Given the description of an element on the screen output the (x, y) to click on. 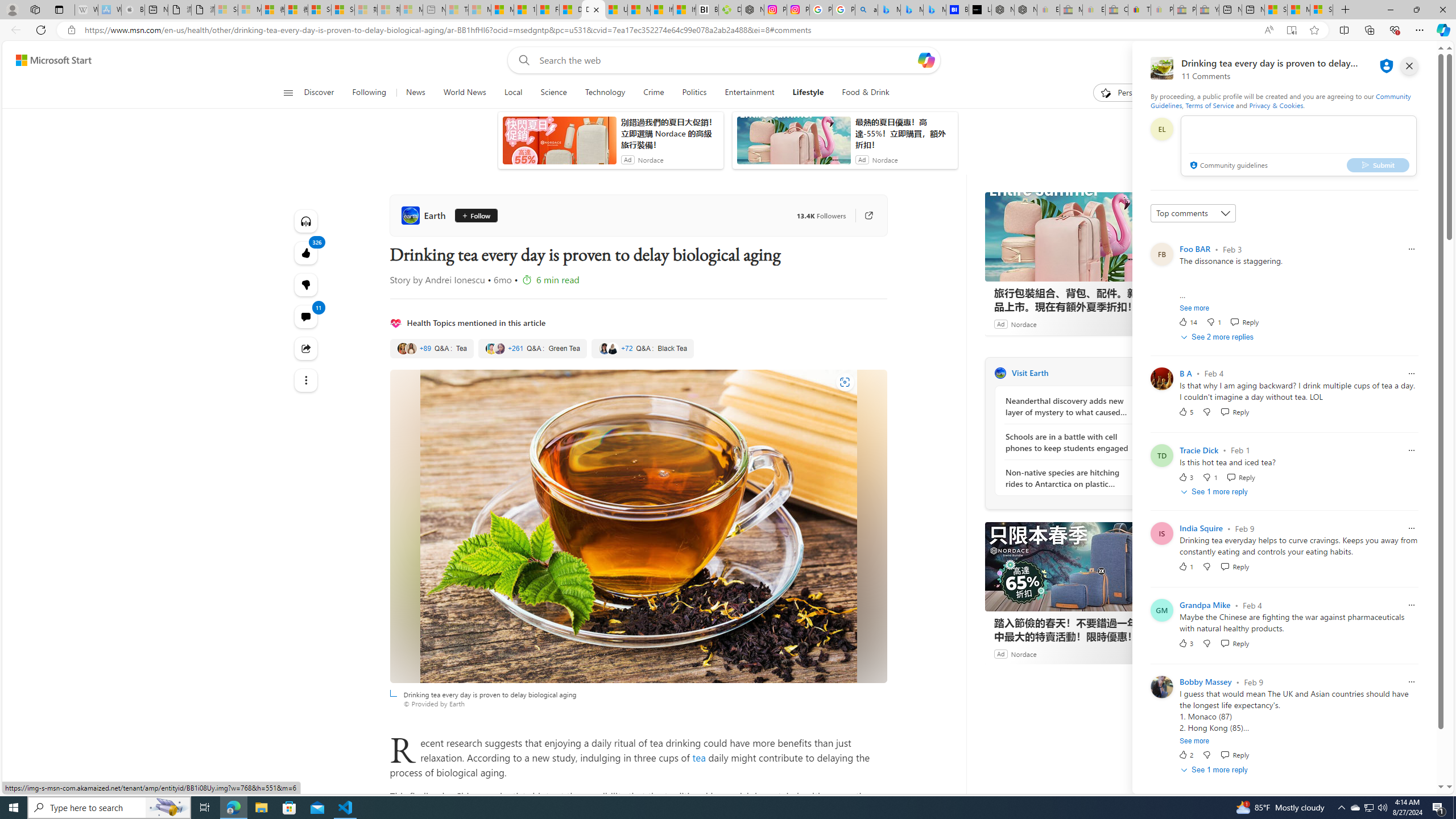
Follow (475, 215)
Crime (653, 92)
Microsoft Bing Travel - Flights from Hong Kong to Bangkok (889, 9)
Descarga Driver Updater (729, 9)
Sign in to your Microsoft account (1321, 9)
Drinking tea every day is proven to delay biological aging (638, 526)
326 Like (305, 252)
Copilot (Ctrl+Shift+.) (1442, 29)
2 Like (1185, 754)
Open settings (1420, 60)
World News (464, 92)
Microsoft Services Agreement - Sleeping (249, 9)
